Given the description of an element on the screen output the (x, y) to click on. 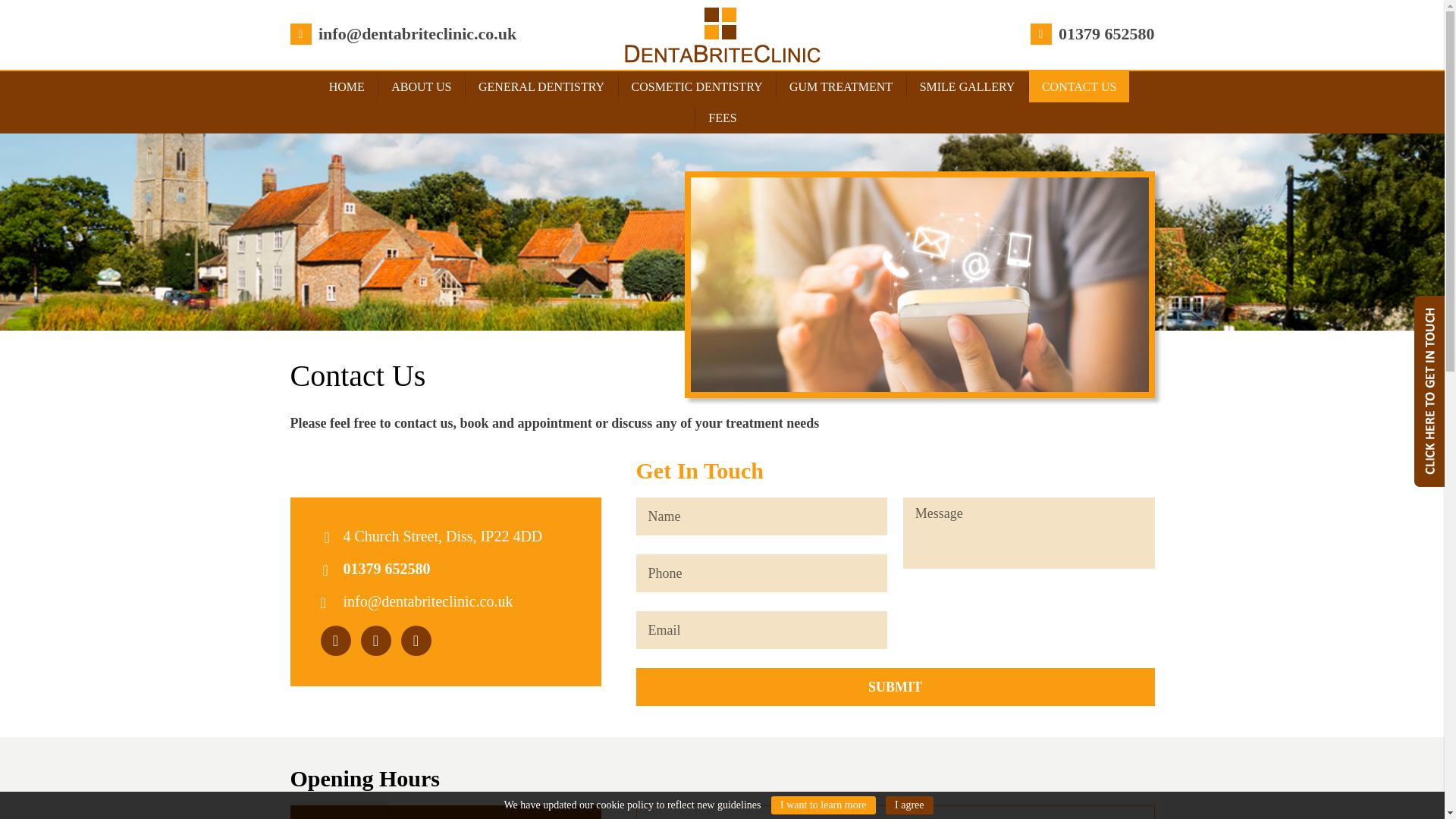
GENERAL DENTISTRY (541, 86)
I want to learn more (823, 805)
GUM TREATMENT (840, 86)
CONTACT US (1079, 86)
DentaBrite Clinic (722, 35)
01379 652580 (1091, 31)
HOME (346, 86)
Submit (894, 686)
COSMETIC DENTISTRY (697, 86)
Mail (427, 600)
I agree (909, 805)
Mail (402, 31)
ABOUT US (421, 86)
Phone (385, 568)
Phone (1091, 31)
